Given the description of an element on the screen output the (x, y) to click on. 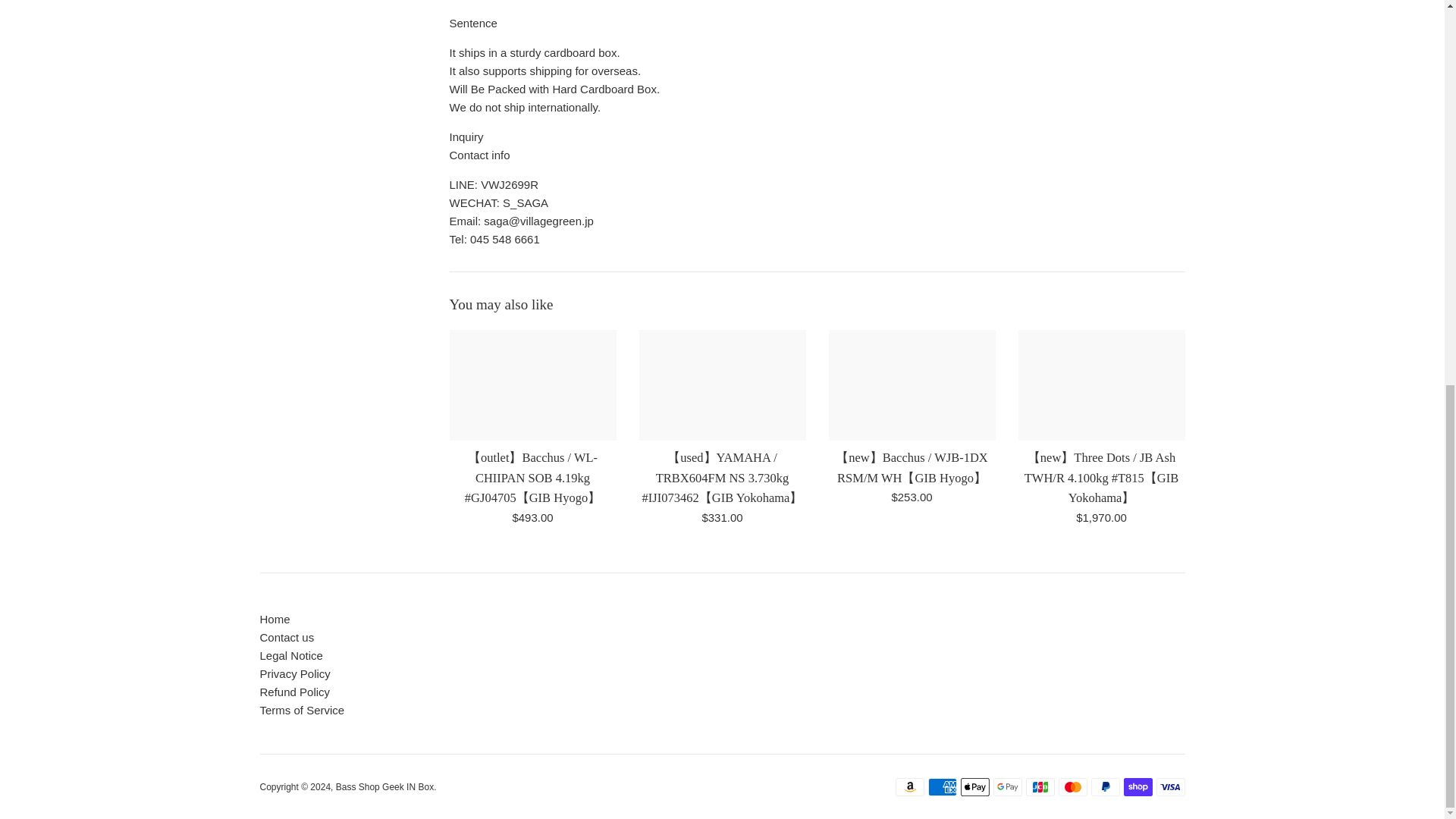
JCB (1039, 787)
Shop Pay (1138, 787)
American Express (942, 787)
Mastercard (1072, 787)
Contact us (286, 636)
Google Pay (1007, 787)
Visa (1170, 787)
PayPal (1104, 787)
Amazon (909, 787)
Apple Pay (973, 787)
